Given the description of an element on the screen output the (x, y) to click on. 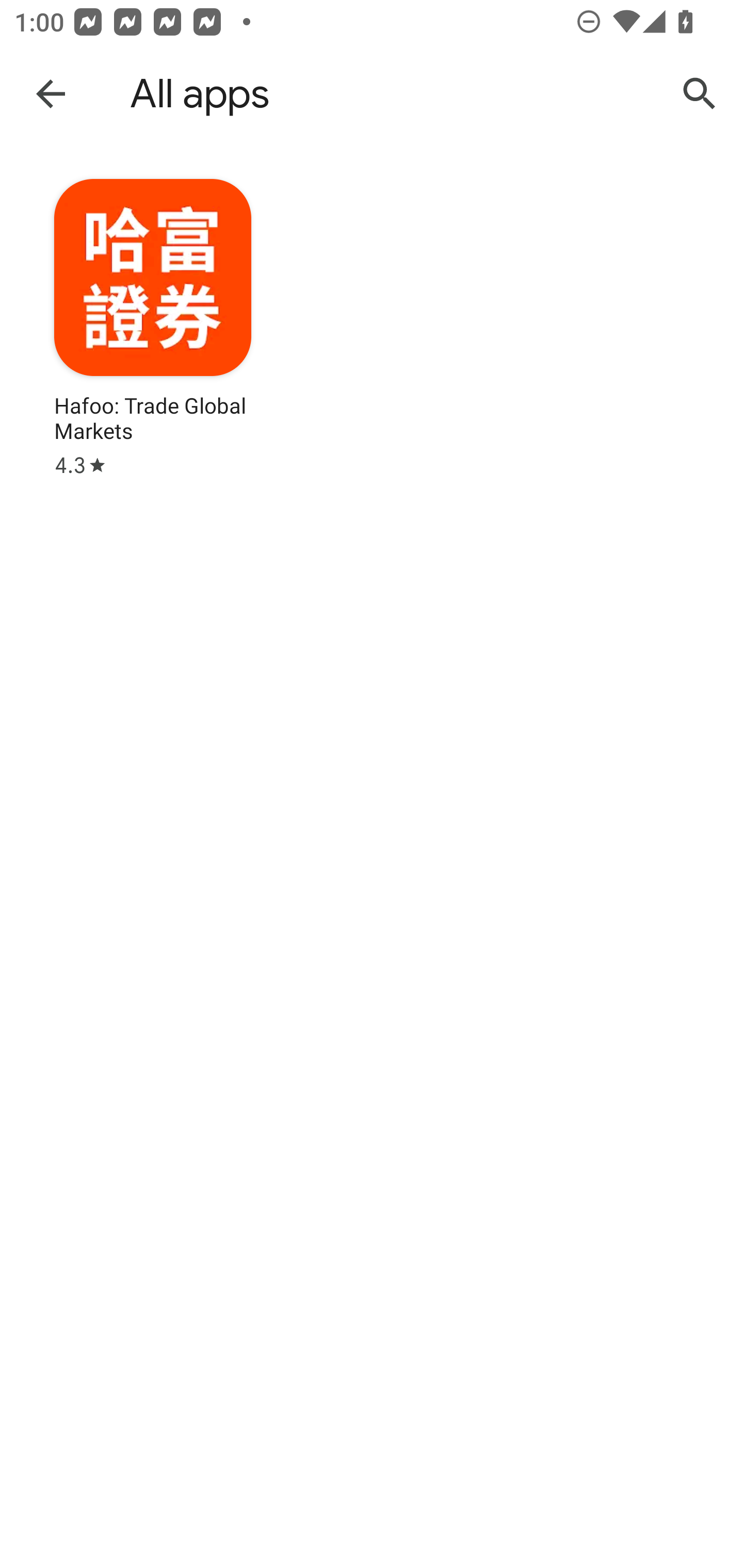
Navigate up (50, 92)
Search Google Play (699, 93)
